Given the description of an element on the screen output the (x, y) to click on. 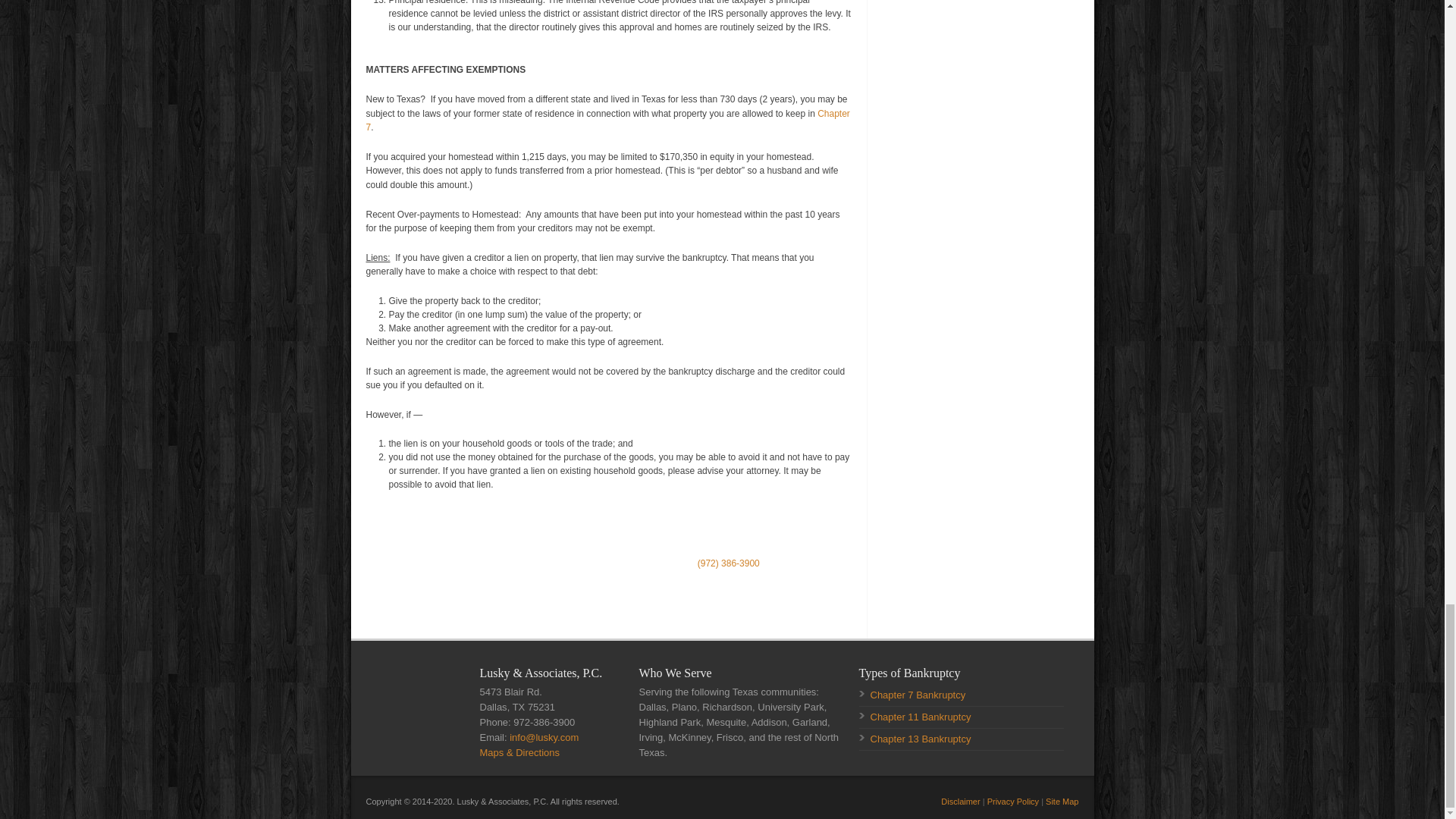
Site Map (1061, 800)
Chapter 13 Bankruptcy (920, 738)
Chapter 7 Bankruptcy (918, 695)
Chapter 7 Bankruptcy (606, 120)
Email (543, 737)
Disclaimer (959, 800)
Chapter 7 (606, 120)
Chapter 11 Bankruptcy (920, 716)
Free bankruptcy legal consultation (728, 562)
Privacy Policy (1013, 800)
